Given the description of an element on the screen output the (x, y) to click on. 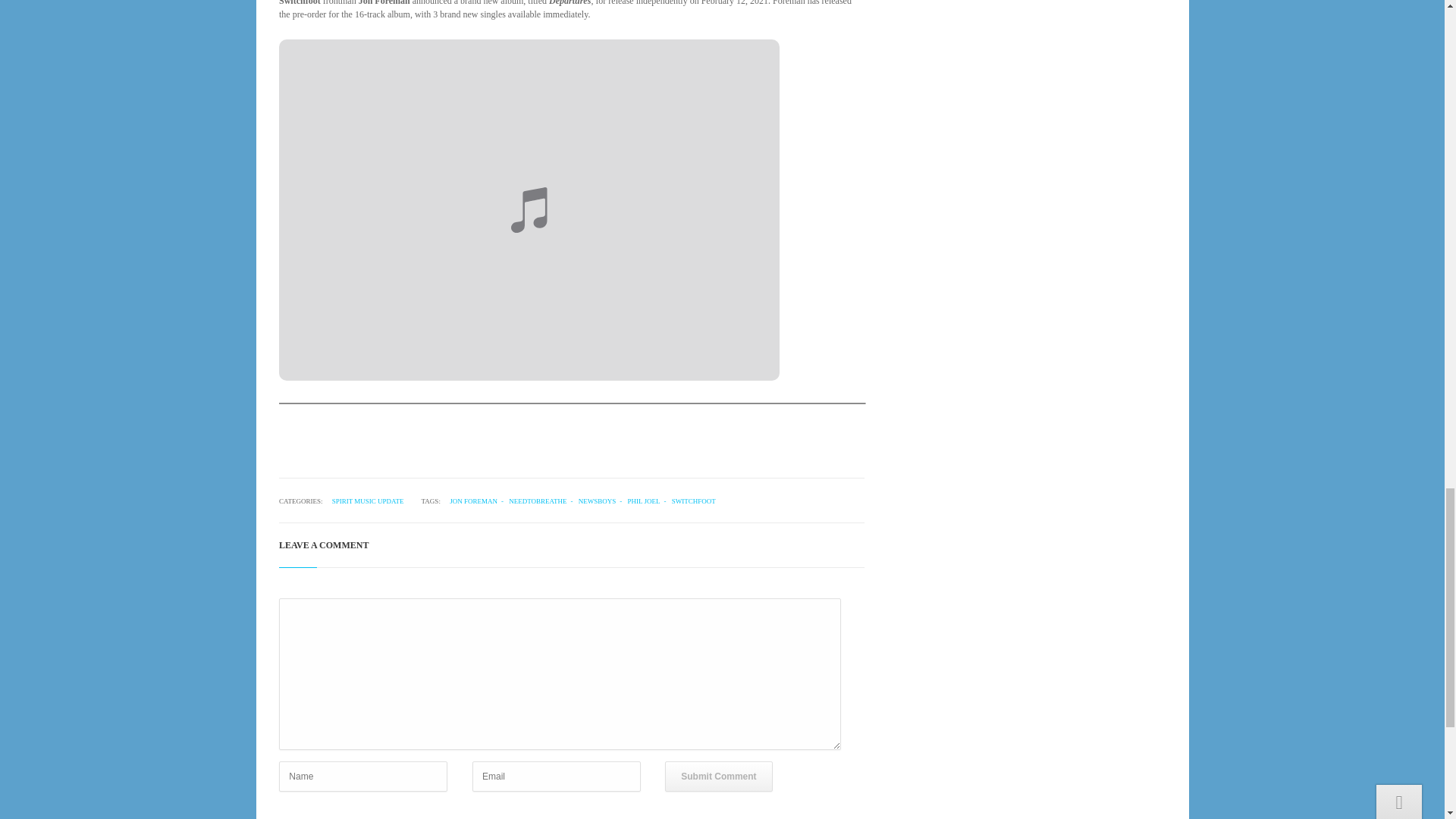
NEEDTOBREATHE (542, 501)
JON FOREMAN (474, 501)
SWITCHFOOT (693, 501)
PHIL JOEL (648, 501)
Submit Comment (718, 776)
NEWSBOYS (602, 501)
Submit Comment (718, 776)
SPIRIT MUSIC UPDATE (364, 501)
